Given the description of an element on the screen output the (x, y) to click on. 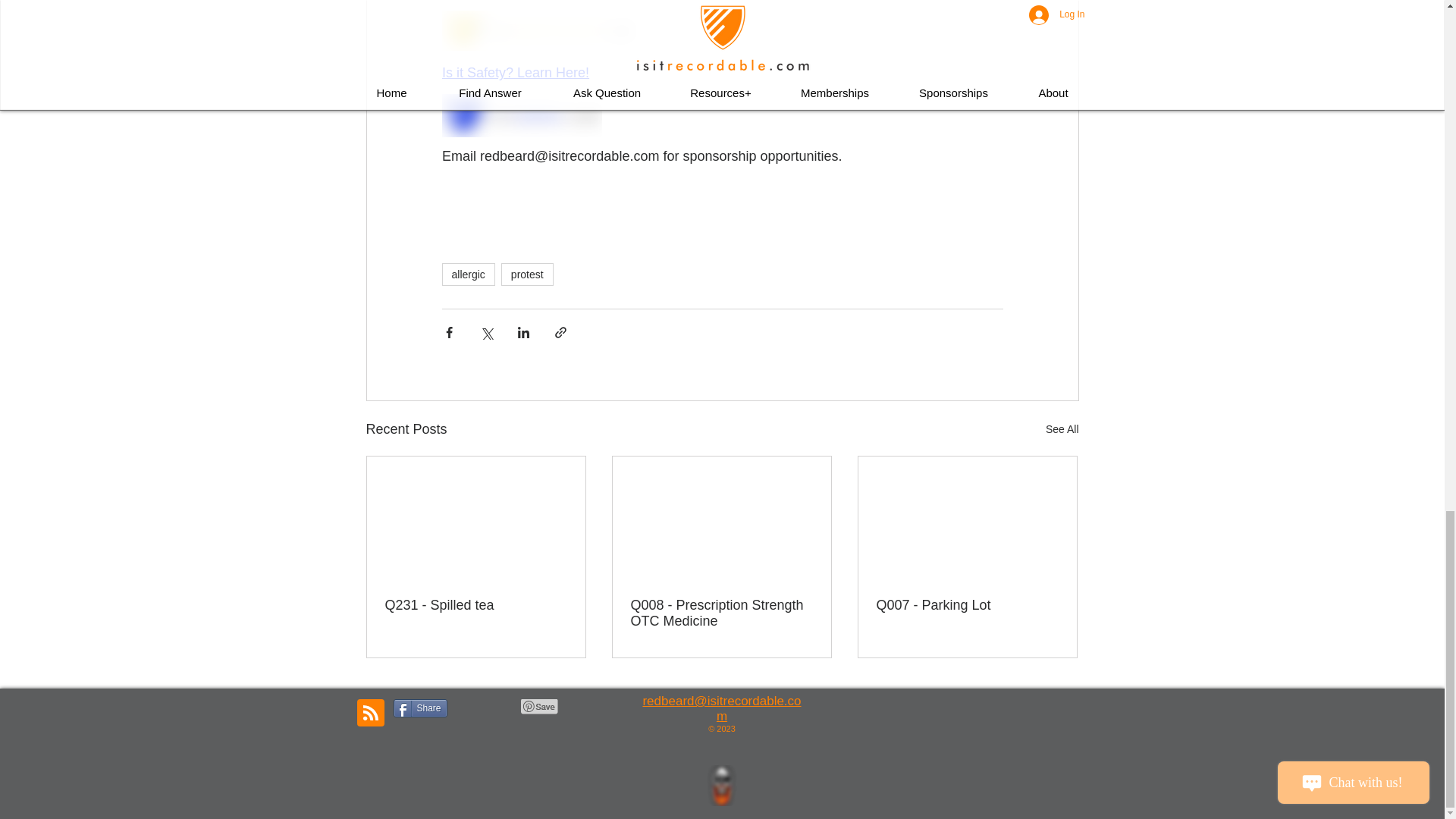
protest (526, 273)
Pin to Pinterest (538, 706)
Share (419, 708)
allergic (468, 273)
Is it Safety? Learn Here! (514, 72)
Twitter Tweet (484, 706)
